Given the description of an element on the screen output the (x, y) to click on. 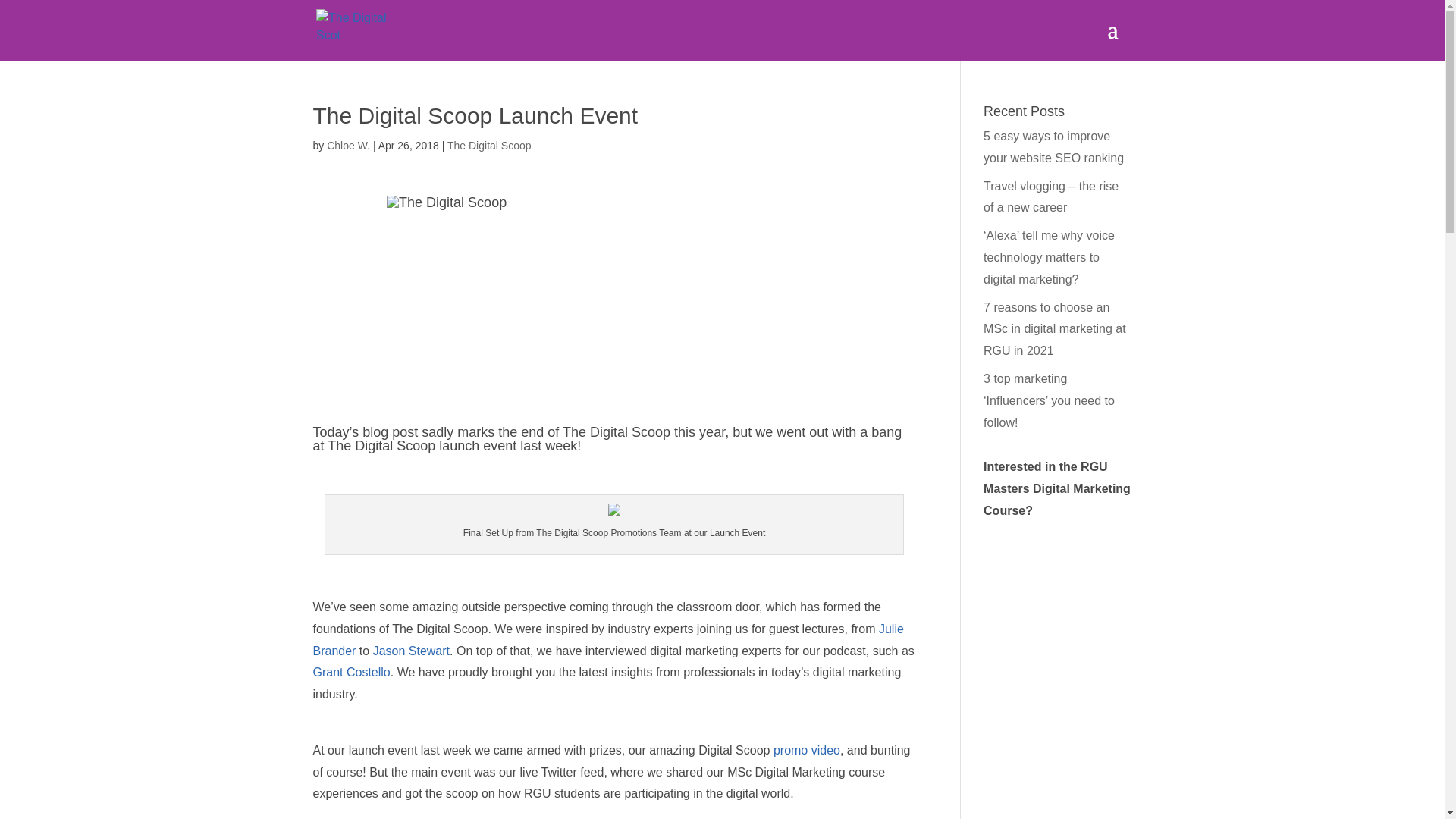
The Digital Scoop (488, 145)
promo video (806, 749)
Chloe W. (347, 145)
Julie Brander (607, 639)
Posts by Chloe W. (347, 145)
Jason Stewart (410, 650)
5 easy ways to improve your website SEO ranking (1054, 146)
Grant Costello (351, 671)
